Given the description of an element on the screen output the (x, y) to click on. 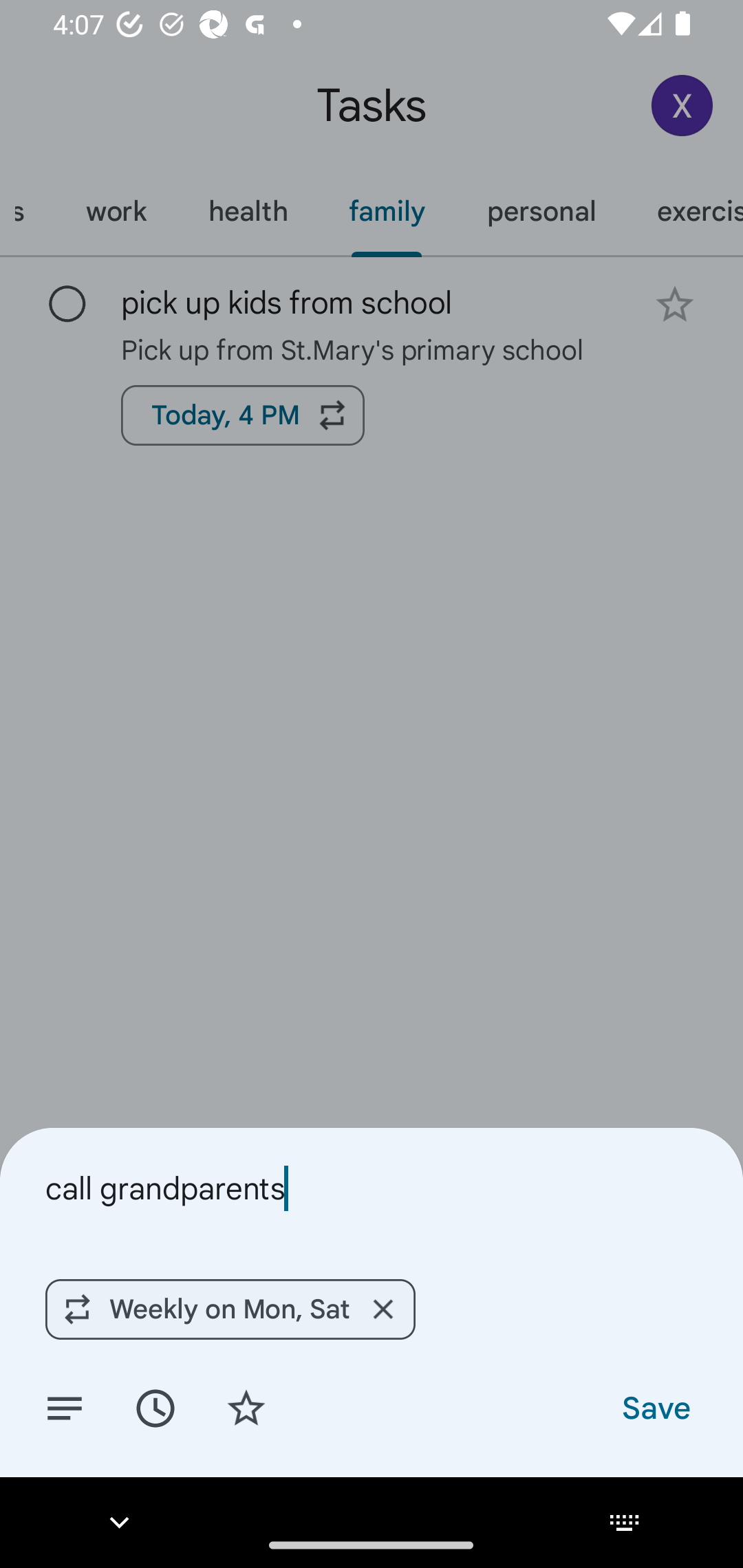
call grandparents (371, 1188)
Weekly on Mon, Sat Remove Weekly on Mon, Sat (230, 1308)
Save (655, 1407)
Add details (64, 1407)
Set date/time (154, 1407)
Add star (245, 1407)
